Given the description of an element on the screen output the (x, y) to click on. 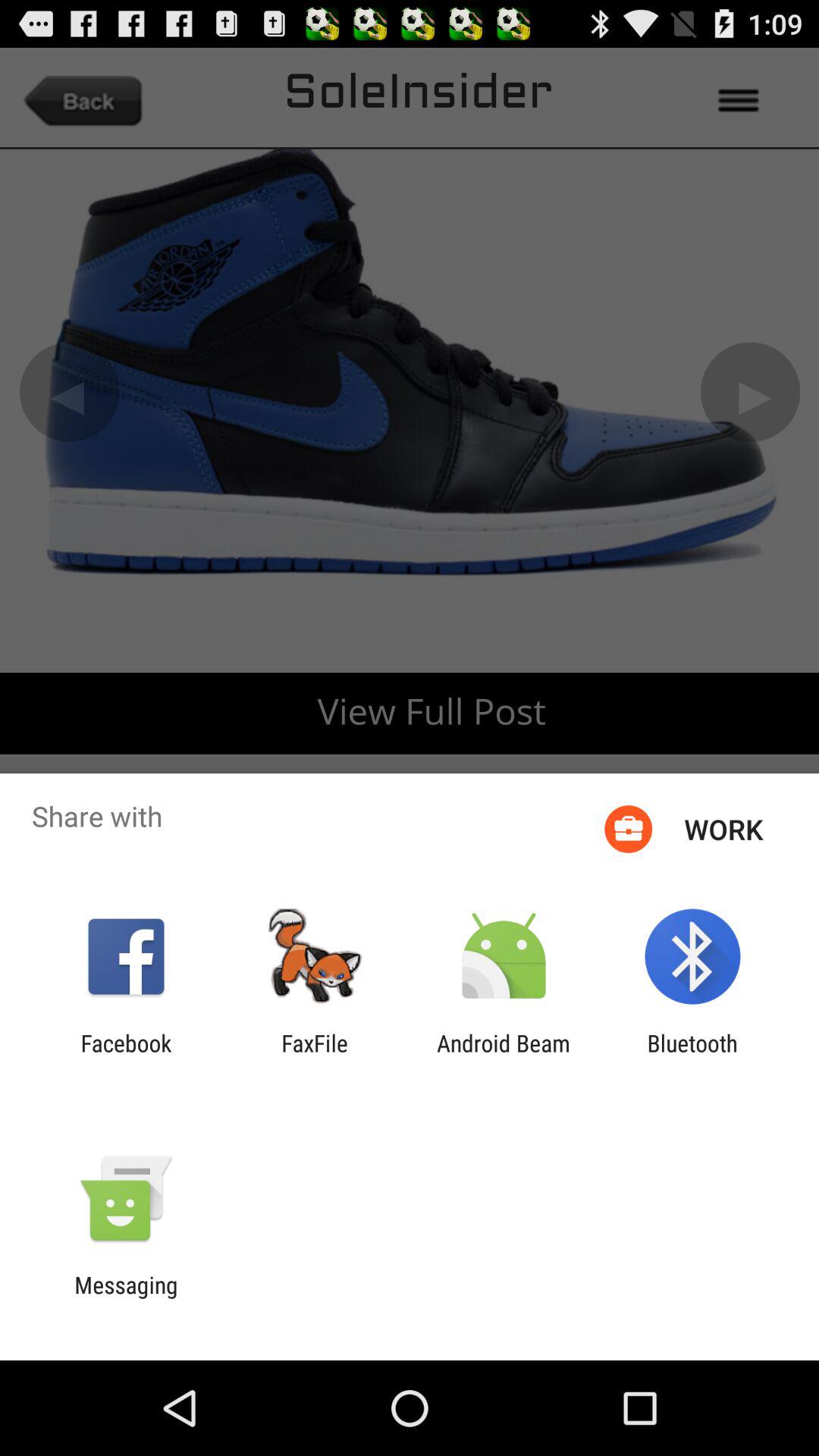
flip to the messaging app (126, 1298)
